Given the description of an element on the screen output the (x, y) to click on. 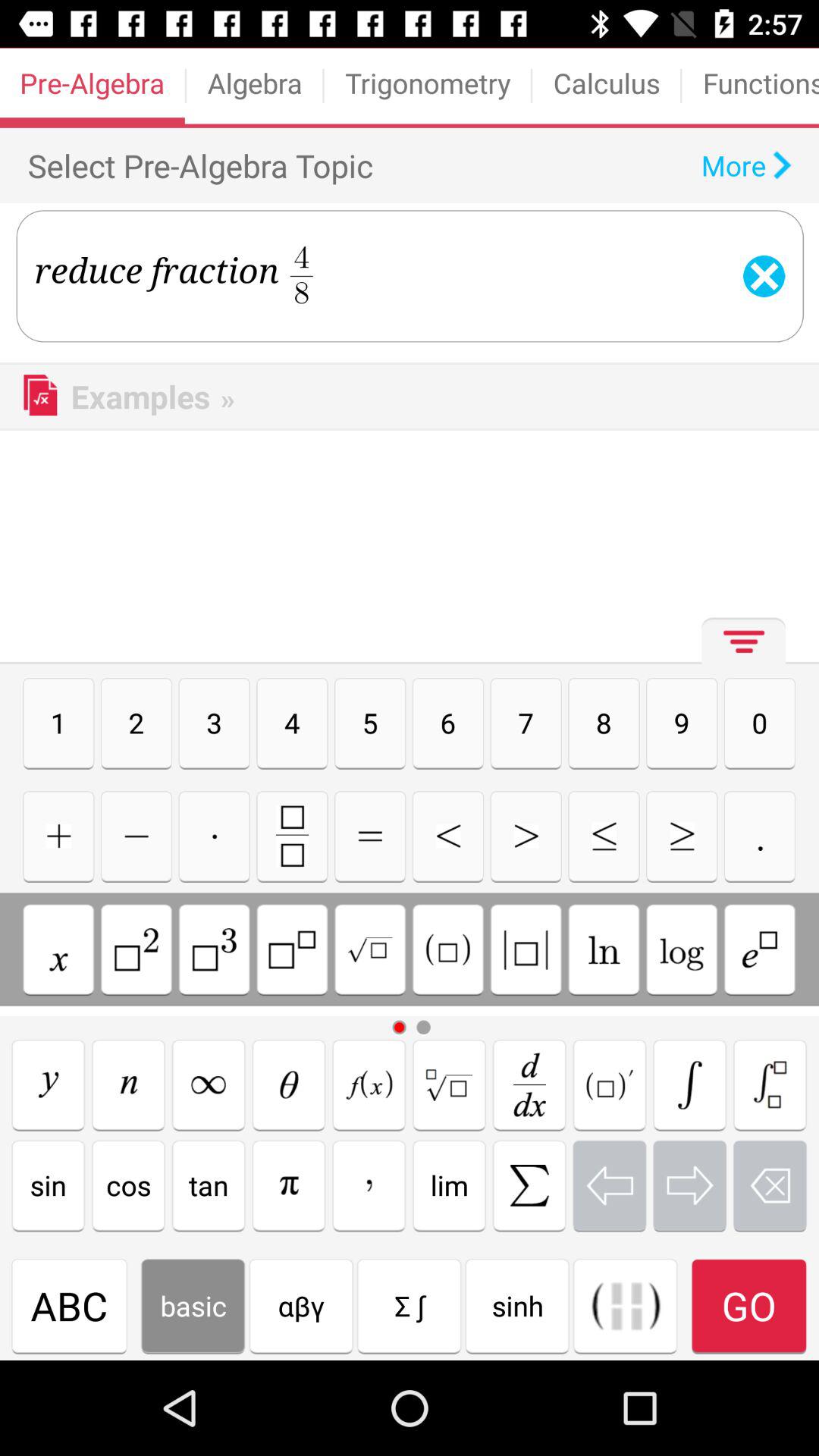
write symbol (208, 1084)
